Given the description of an element on the screen output the (x, y) to click on. 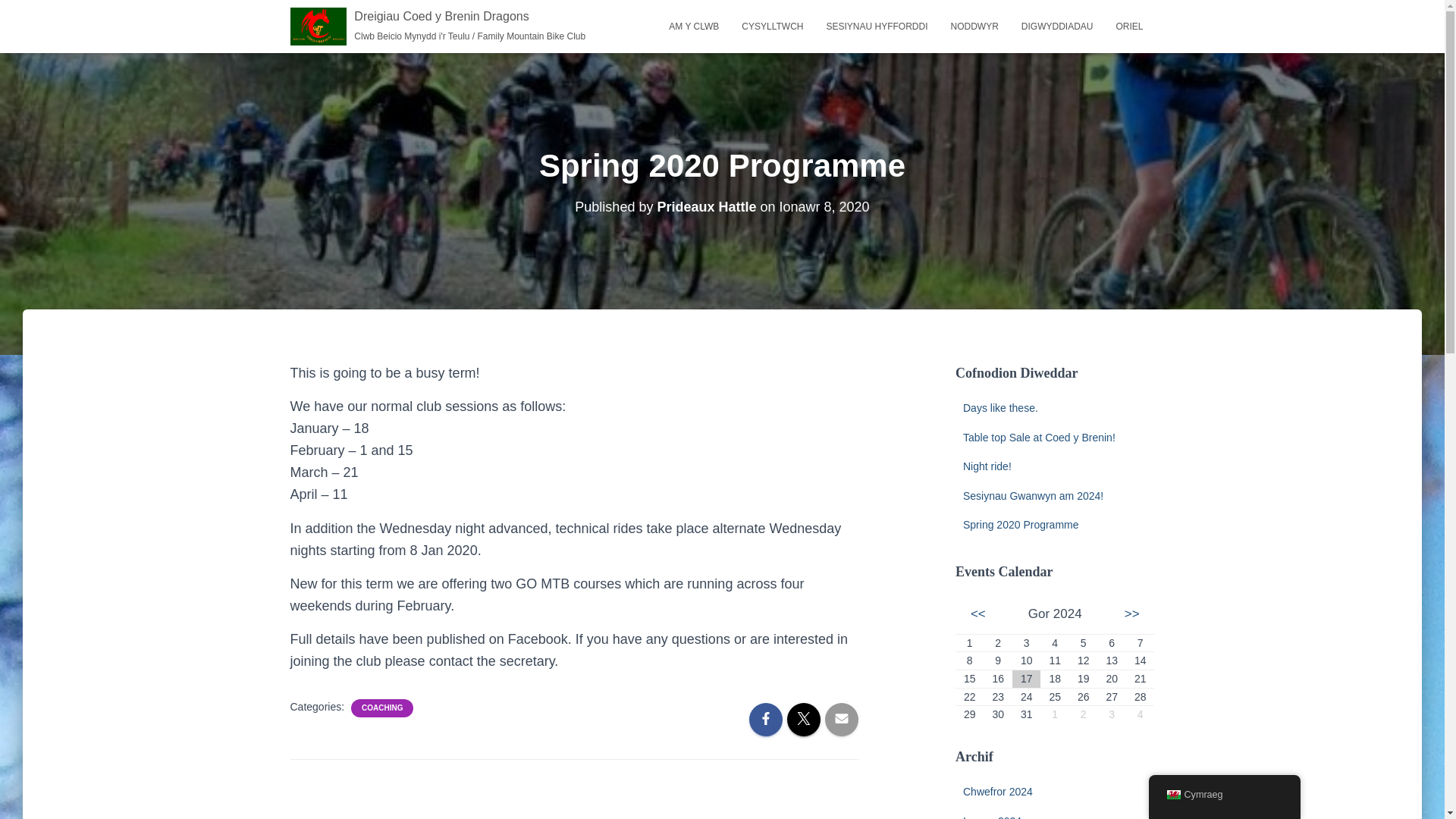
Days like these. (1000, 408)
CYSYLLTWCH (771, 26)
Ionawr 2024 (992, 816)
COACHING (381, 707)
Oriel (1128, 26)
Chwefror 2024 (997, 791)
Noddwyr (974, 26)
SESIYNAU HYFFORDDI (876, 26)
Sesiynau Gwanwyn am 2024! (1032, 495)
Cymraeg (1172, 794)
Night ride! (986, 466)
Digwyddiadau (1057, 26)
Table top Sale at Coed y Brenin! (1038, 437)
Sesiynau Hyfforddi (876, 26)
Am y clwb (694, 26)
